Given the description of an element on the screen output the (x, y) to click on. 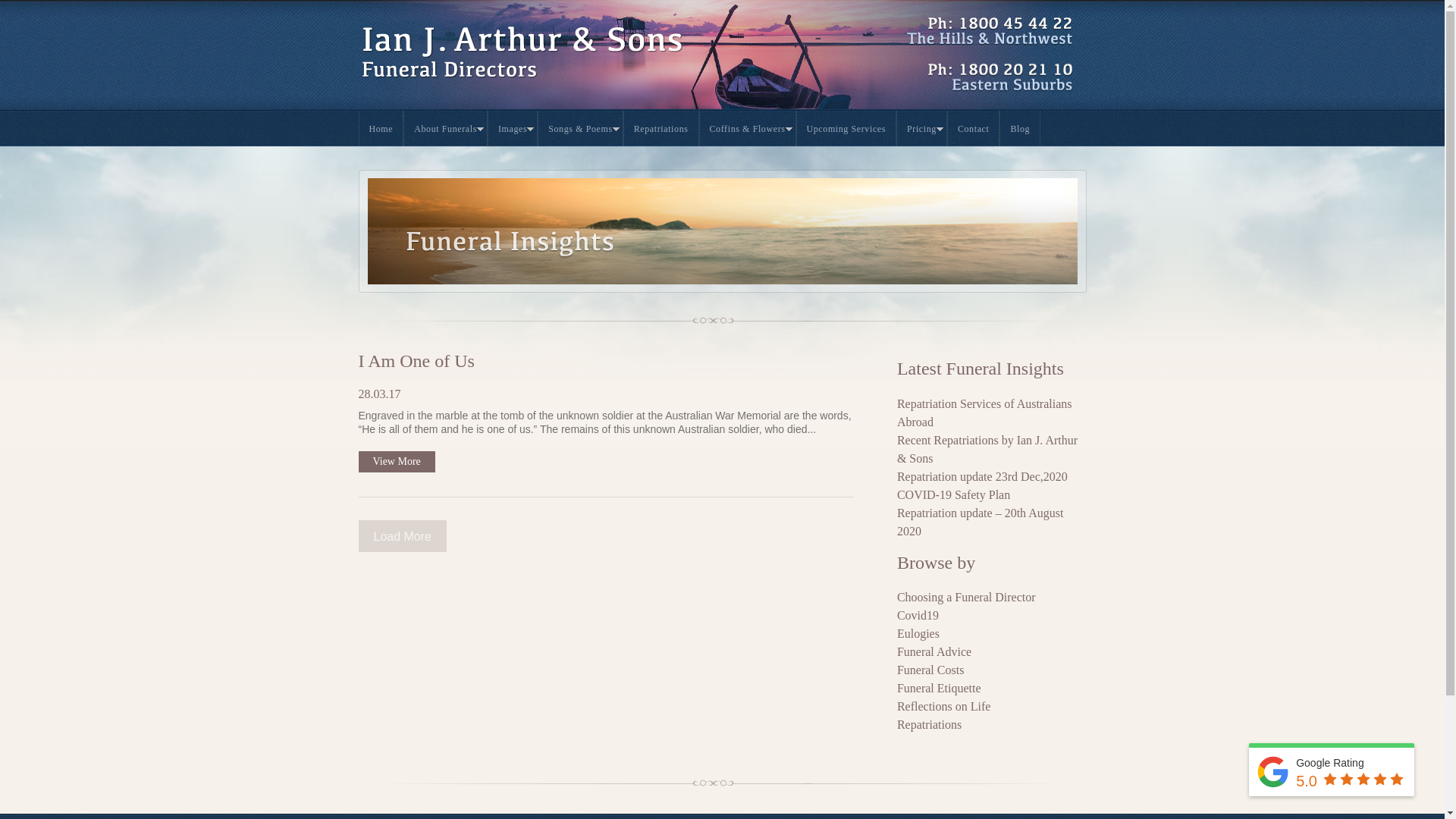
horizontal-line Element type: hover (721, 310)
View More Element type: text (395, 461)
Load More Element type: text (401, 536)
Upcoming Services Element type: text (846, 128)
Home Element type: text (380, 128)
Eulogies Element type: text (991, 633)
Ian J. Arthur Funeral Directors Element type: hover (530, 74)
Repatriation Services of Australians Abroad Element type: text (991, 413)
Funeral Costs Element type: text (991, 670)
Coffins & Flowers Element type: text (747, 128)
Repatriations Element type: text (661, 128)
Pricing Element type: text (921, 128)
Reflections on Life Element type: text (991, 706)
I Am One of Us Element type: text (415, 360)
About Funerals Element type: text (445, 128)
COVID-19 Safety Plan Element type: text (991, 495)
Images Element type: text (512, 128)
horizontal-line Element type: hover (721, 773)
Covid19 Element type: text (991, 615)
Funeral Advice Element type: text (991, 652)
Repatriations Element type: text (991, 724)
Choosing a Funeral Director Element type: text (991, 597)
Recent Repatriations by Ian J. Arthur & Sons Element type: text (991, 449)
Contact Element type: text (973, 128)
Blog Element type: text (1019, 128)
Songs & Poems Element type: text (579, 128)
Repatriation update 23rd Dec,2020 Element type: text (991, 476)
Funeral Etiquette Element type: text (991, 688)
